Given the description of an element on the screen output the (x, y) to click on. 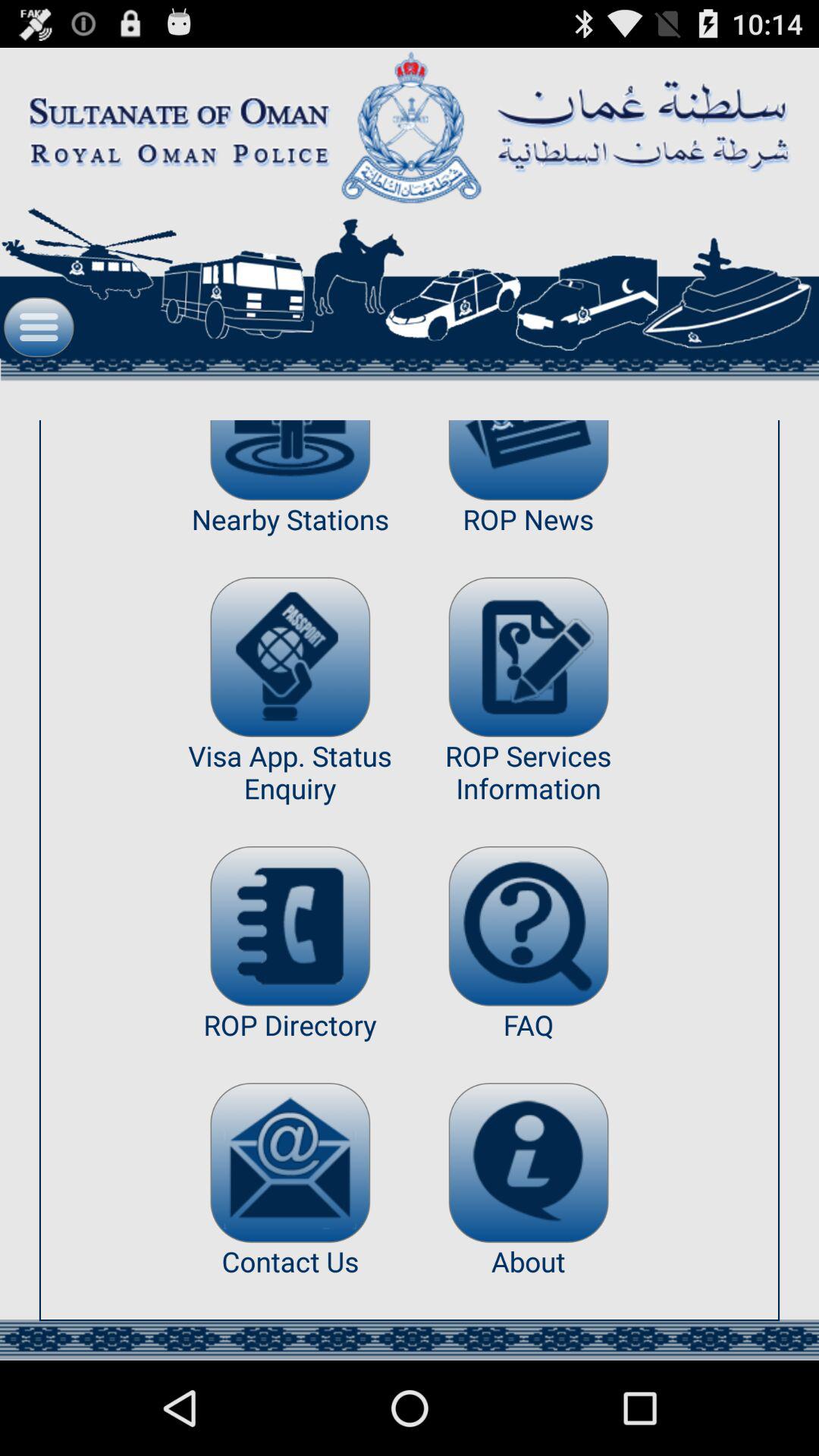
open the icon below faq icon (528, 1162)
